Given the description of an element on the screen output the (x, y) to click on. 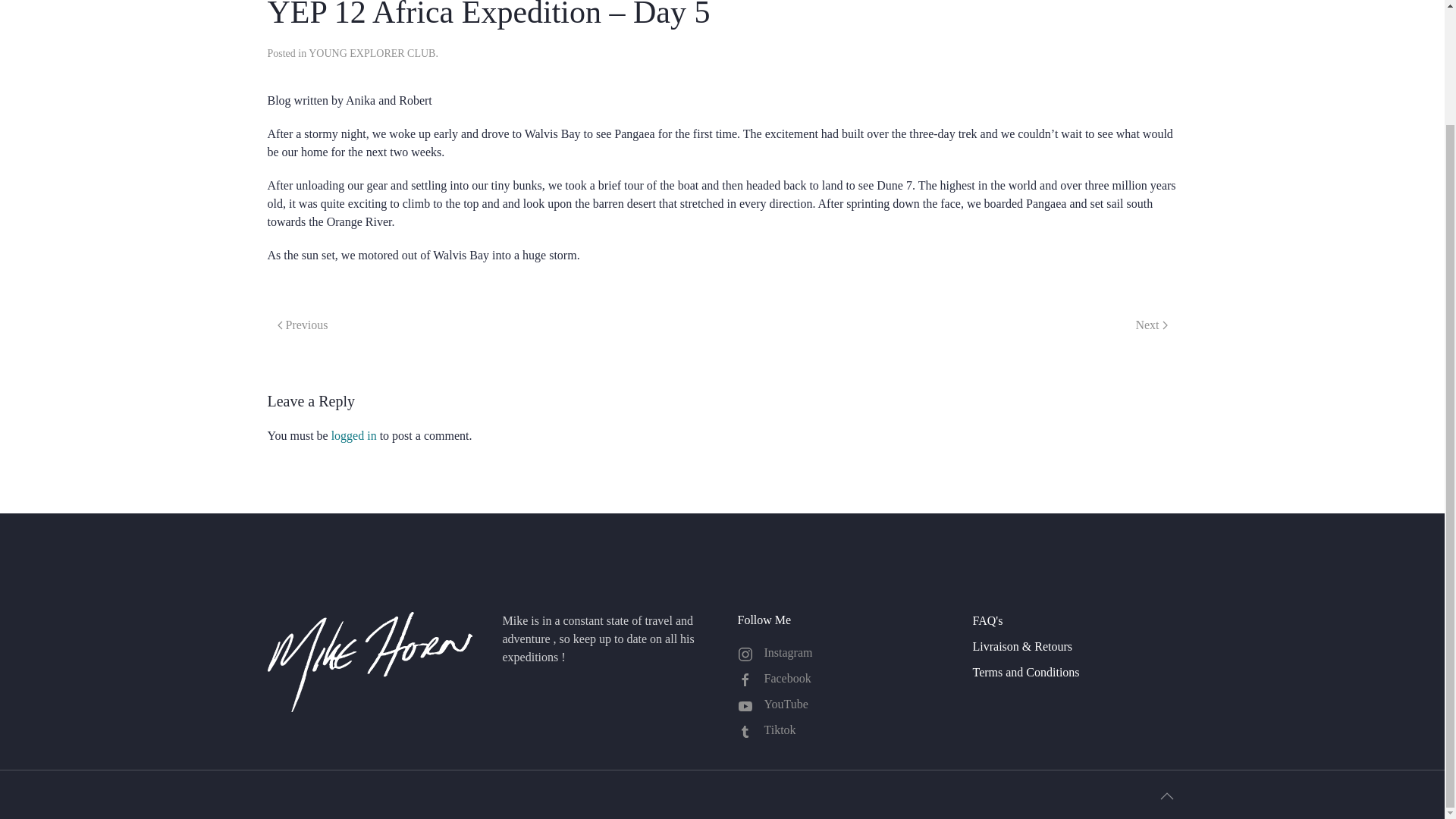
YOUNG EXPLORER CLUB (371, 52)
Instagram (839, 652)
Previous (301, 324)
YouTube (839, 704)
Facebook (839, 678)
Terms and Conditions (1074, 672)
Next (1150, 324)
logged in (354, 435)
FAQ's (1074, 620)
Tiktok (839, 730)
